Given the description of an element on the screen output the (x, y) to click on. 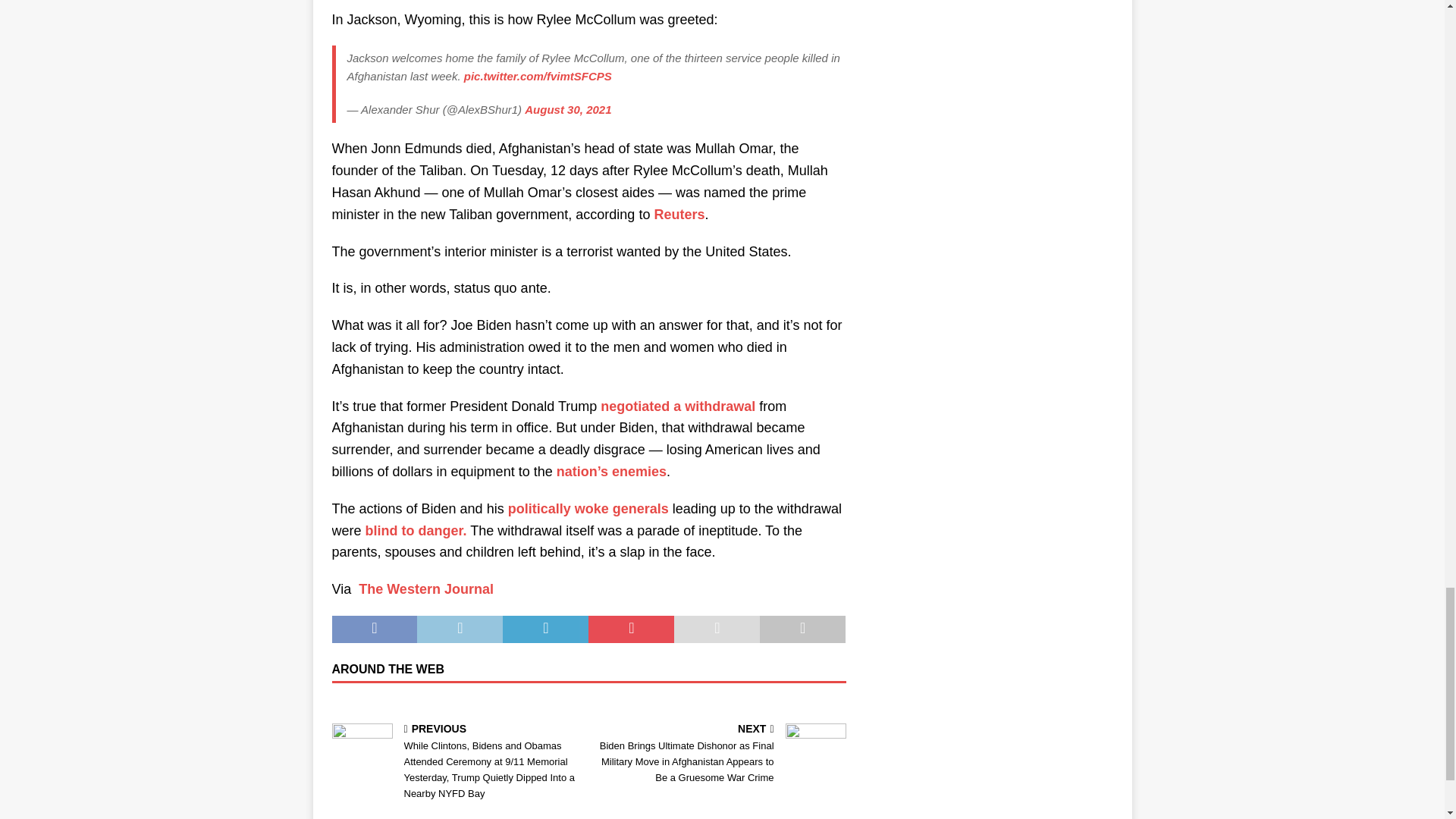
negotiated a withdrawal (677, 406)
politically woke generals (588, 508)
Reuters (678, 214)
August 30, 2021 (567, 109)
